Given the description of an element on the screen output the (x, y) to click on. 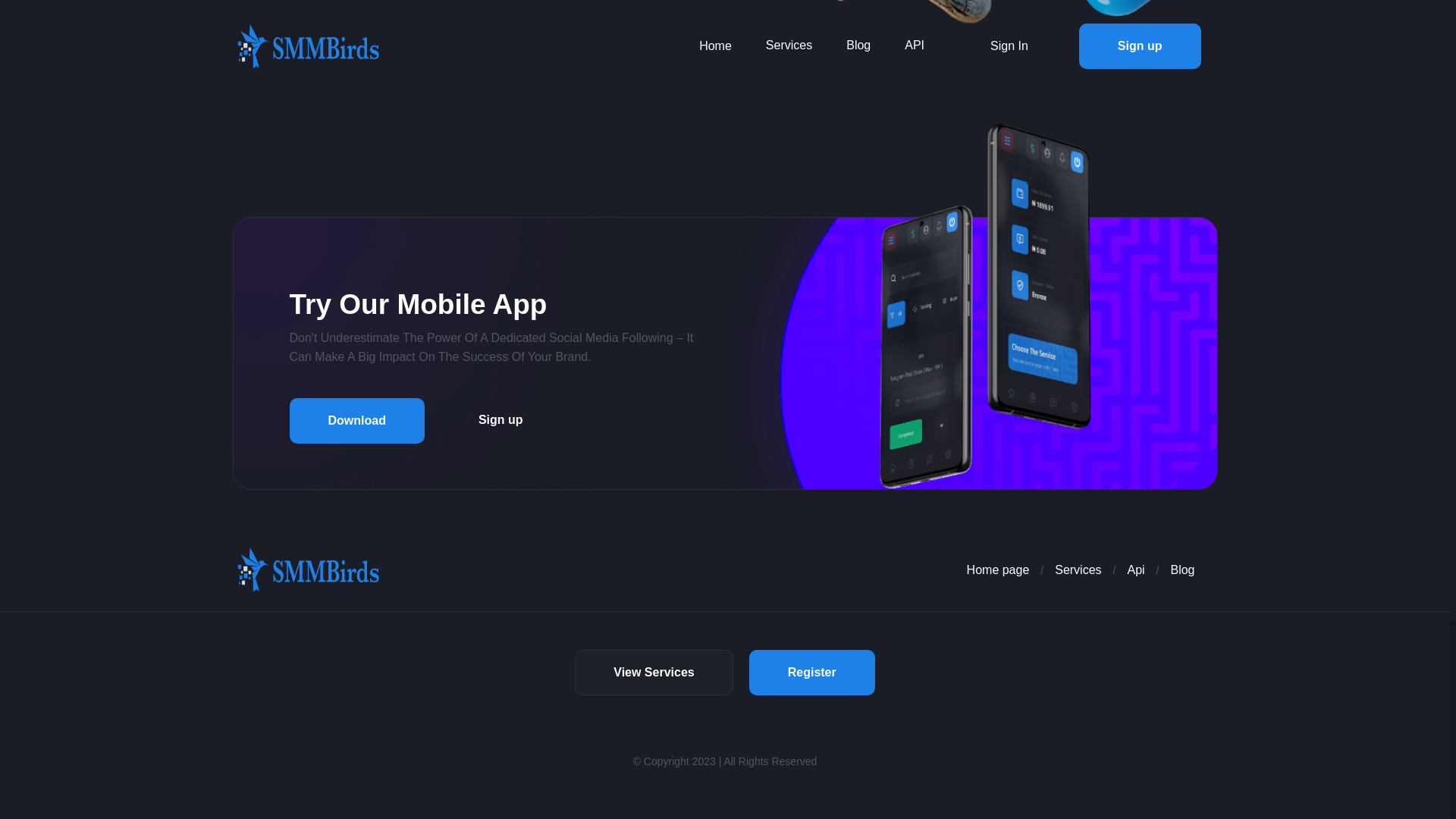
SMMBirds (307, 569)
Download (357, 420)
Services (1077, 569)
Blog (1181, 569)
Sign up (500, 420)
Register (812, 672)
Api (1135, 569)
View Services (653, 672)
    Home page (991, 569)
